Given the description of an element on the screen output the (x, y) to click on. 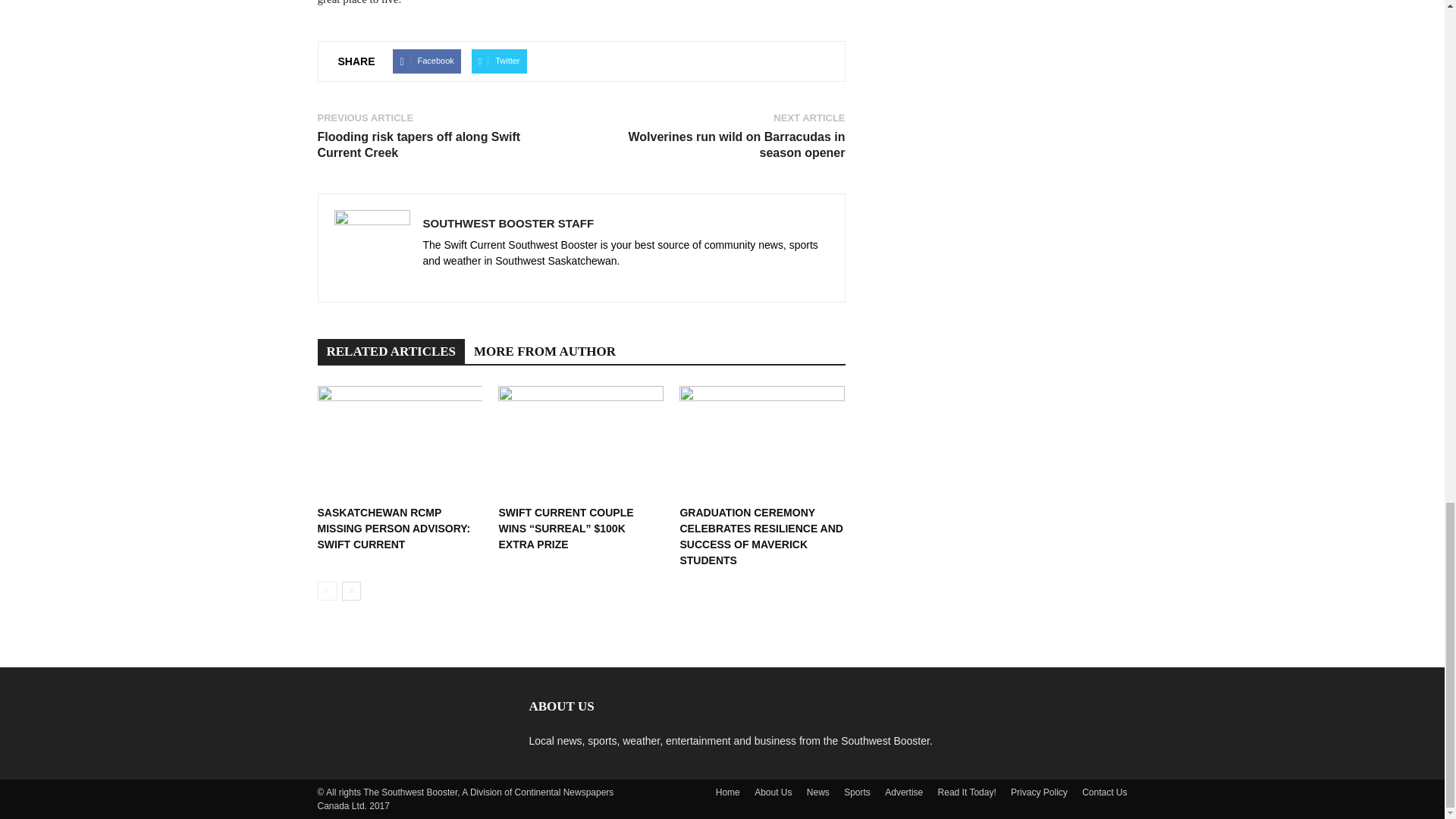
SOUTHWEST BOOSTER STAFF (508, 223)
Saskatchewan RCMP Missing Person Advisory: Swift Current (393, 528)
Facebook (426, 61)
Twitter (499, 61)
Wolverines run wild on Barracudas in season opener (721, 144)
Saskatchewan RCMP Missing Person Advisory: Swift Current (399, 442)
Flooding risk tapers off along Swift Current Creek (439, 144)
